Given the description of an element on the screen output the (x, y) to click on. 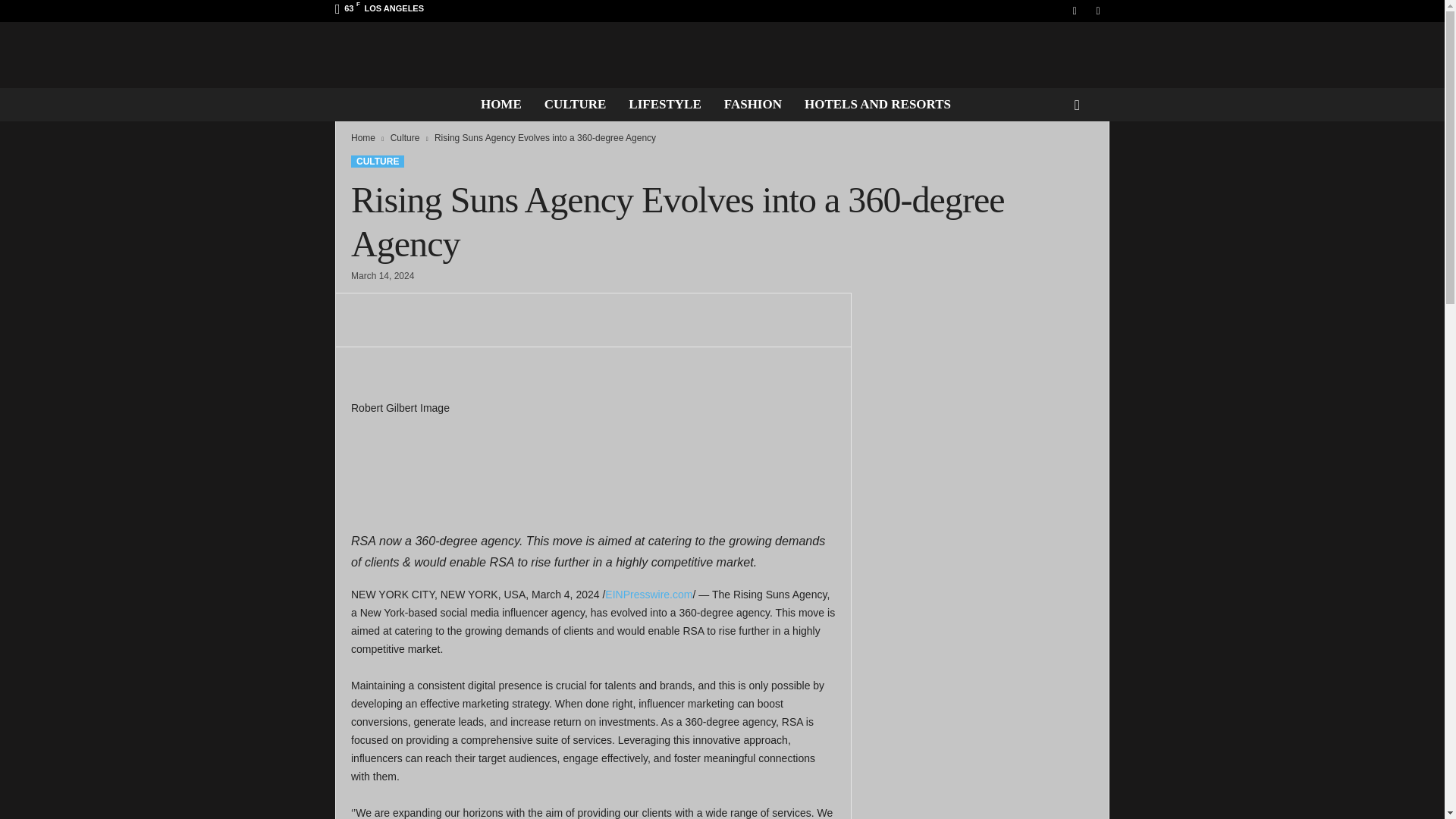
LIFESTYLE (664, 104)
EINPresswire.com (649, 594)
Culture (405, 137)
Volewo Magazine (721, 54)
Home (362, 137)
HOTELS AND RESORTS (877, 104)
CULTURE (377, 161)
HOME (500, 104)
CULTURE (574, 104)
FASHION (753, 104)
View all posts in Culture (405, 137)
